Given the description of an element on the screen output the (x, y) to click on. 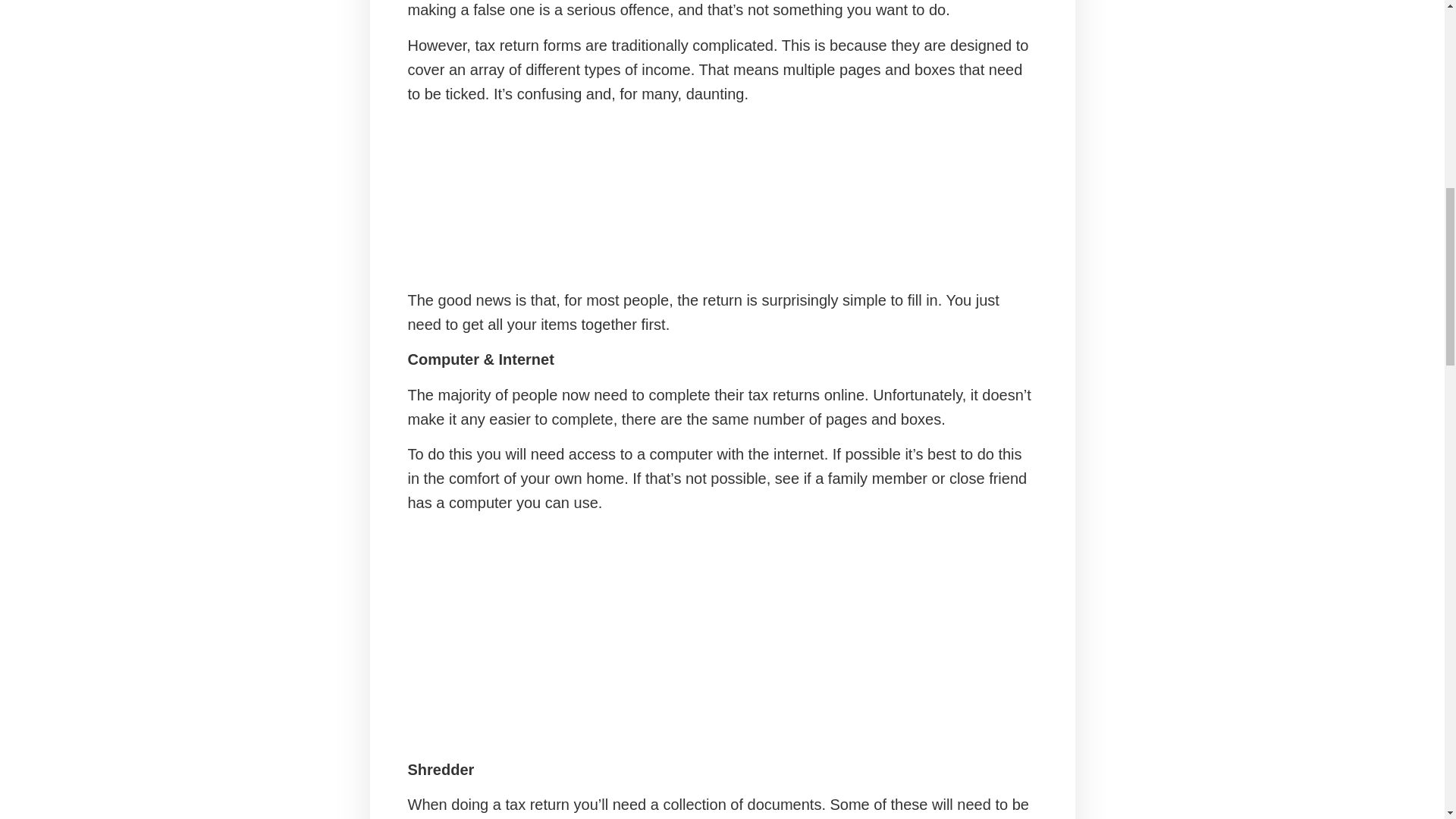
Advertisement (721, 635)
Advertisement (721, 196)
